Given the description of an element on the screen output the (x, y) to click on. 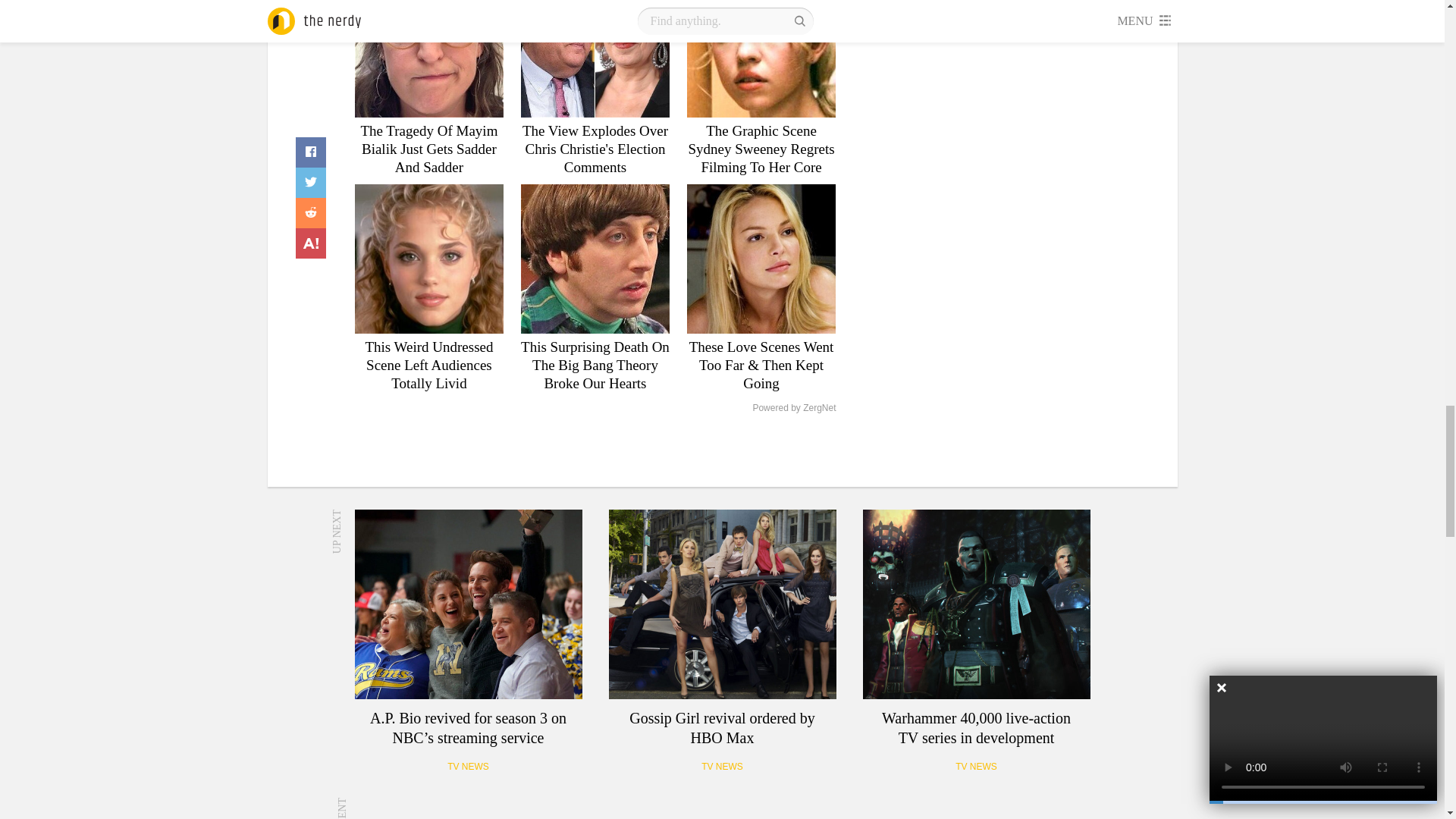
Gossip Girl revival ordered by HBO Max (721, 604)
Warhammer 40,000 live-action TV series in development (976, 604)
